Given the description of an element on the screen output the (x, y) to click on. 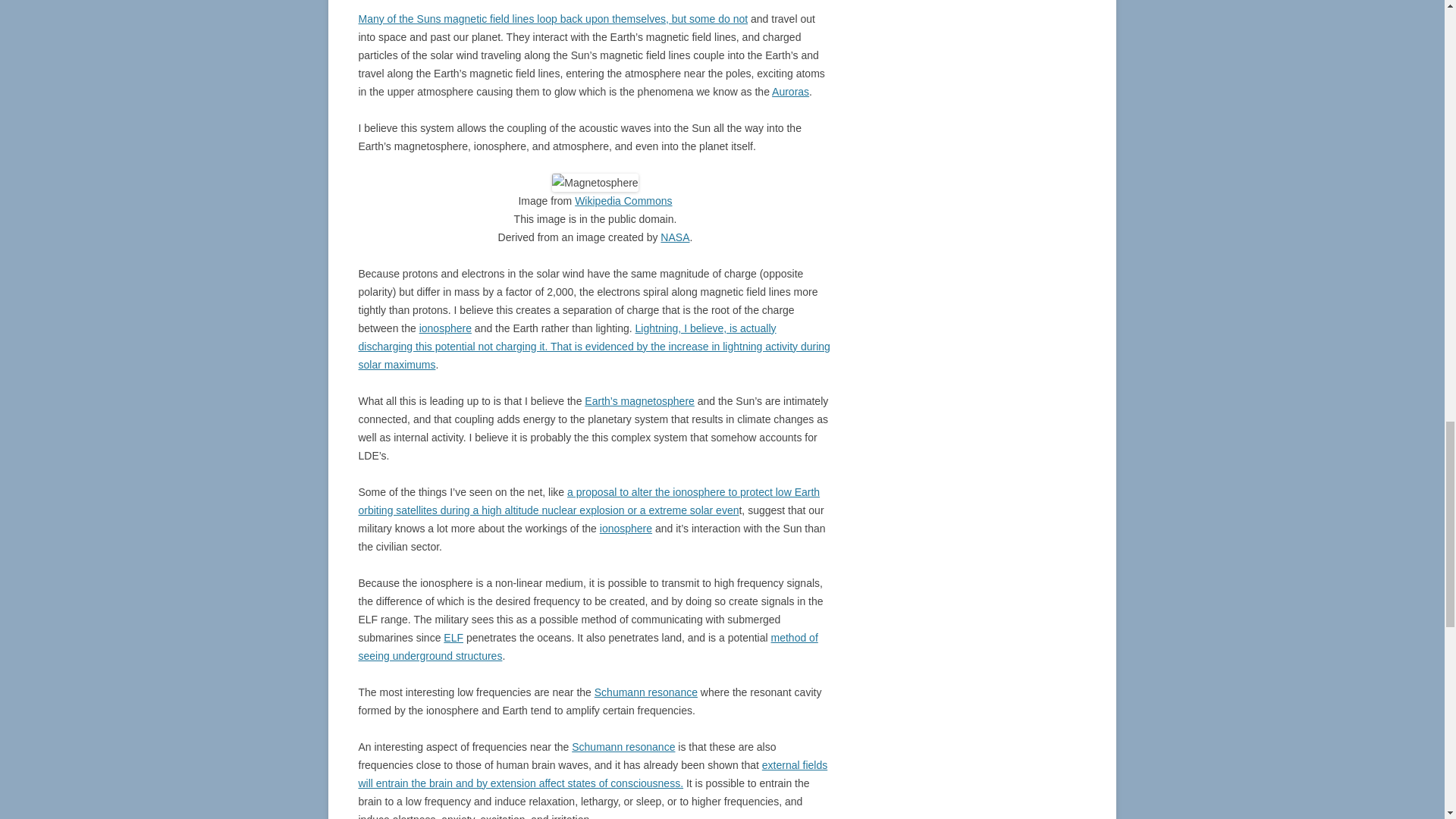
Schumann resonance (645, 692)
ELF (453, 637)
method of seeing underground structures (587, 646)
ionosphere (445, 328)
Wikipedia Commons (623, 200)
Schumann resonance (623, 746)
Auroras (790, 91)
NASA (674, 236)
ionosphere (625, 528)
